Given the description of an element on the screen output the (x, y) to click on. 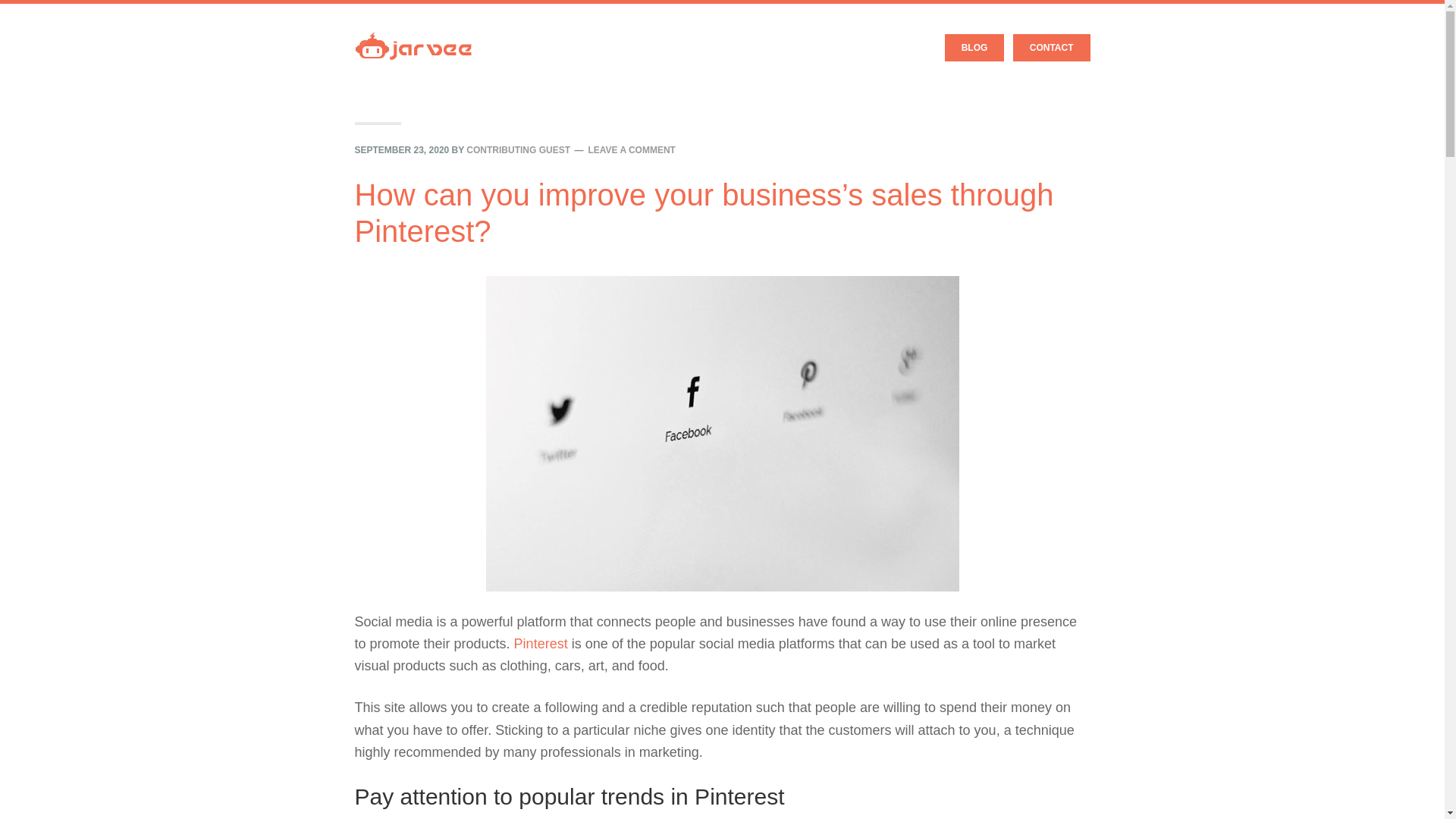
BLOG (974, 47)
JARVEE (413, 34)
CONTACT (1051, 47)
CONTRIBUTING GUEST (517, 149)
LEAVE A COMMENT (631, 149)
Pinterest (540, 643)
